Given the description of an element on the screen output the (x, y) to click on. 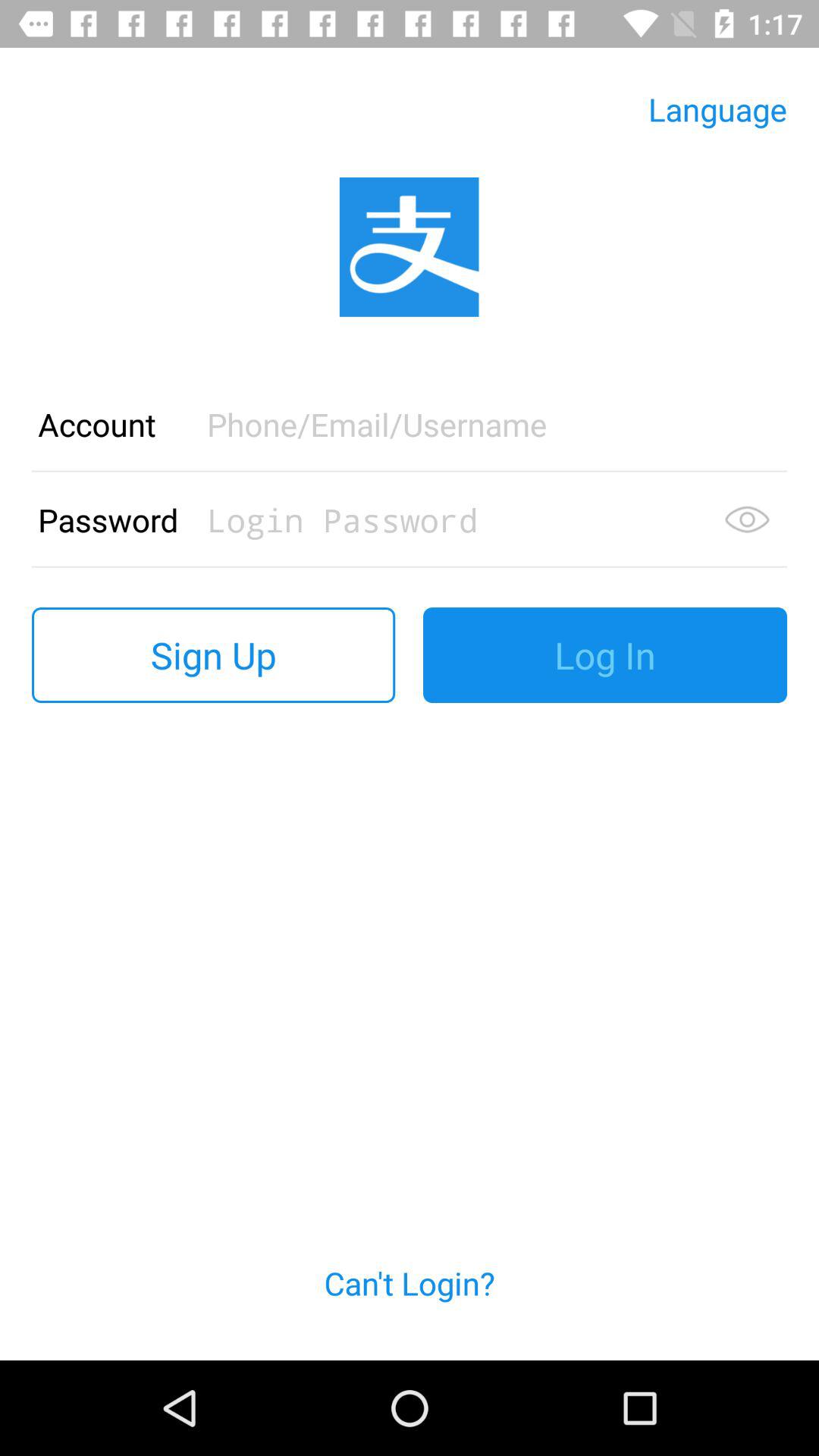
jump until the can't login? icon (409, 1300)
